Given the description of an element on the screen output the (x, y) to click on. 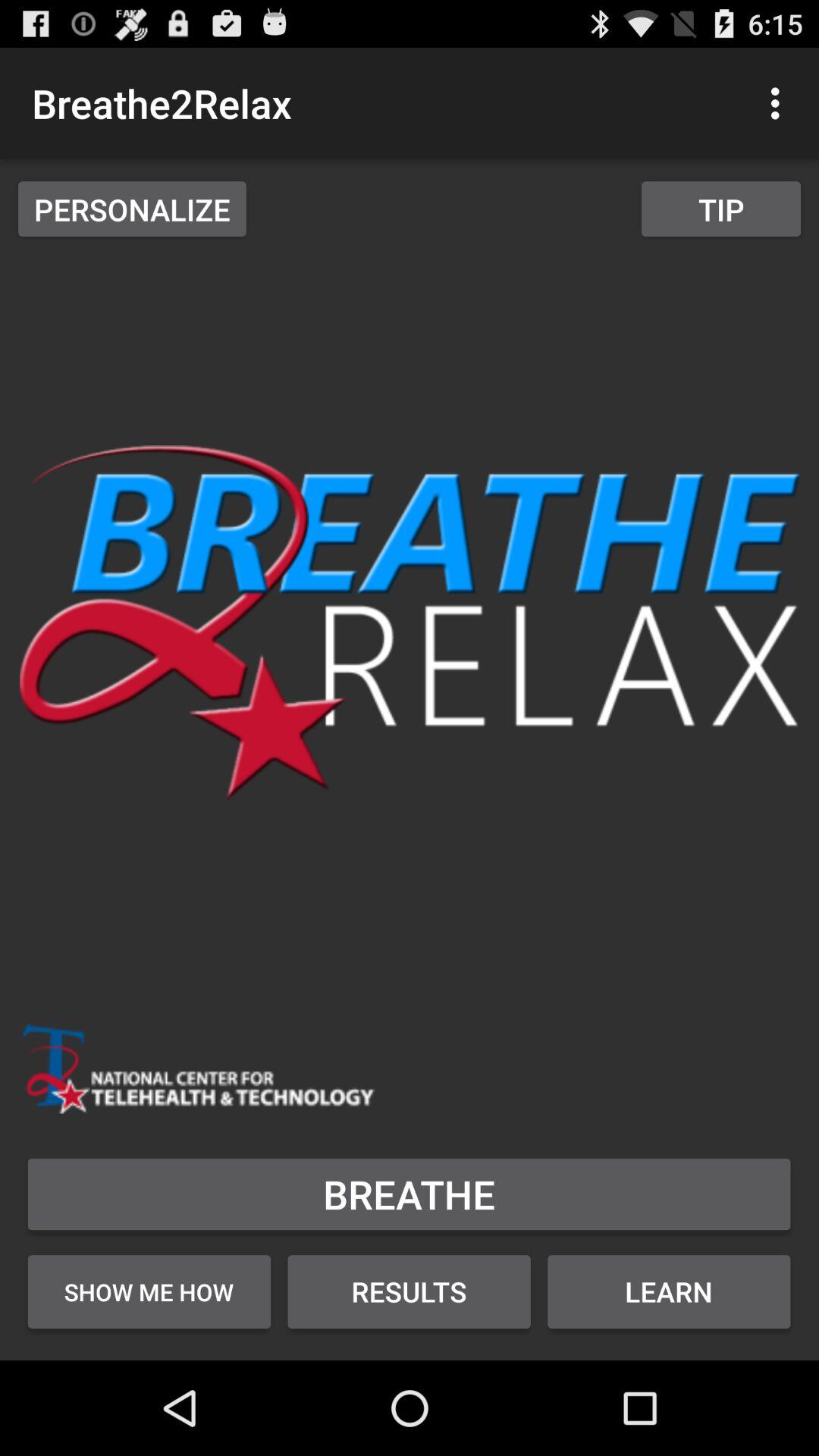
swipe until the personalize item (132, 208)
